Given the description of an element on the screen output the (x, y) to click on. 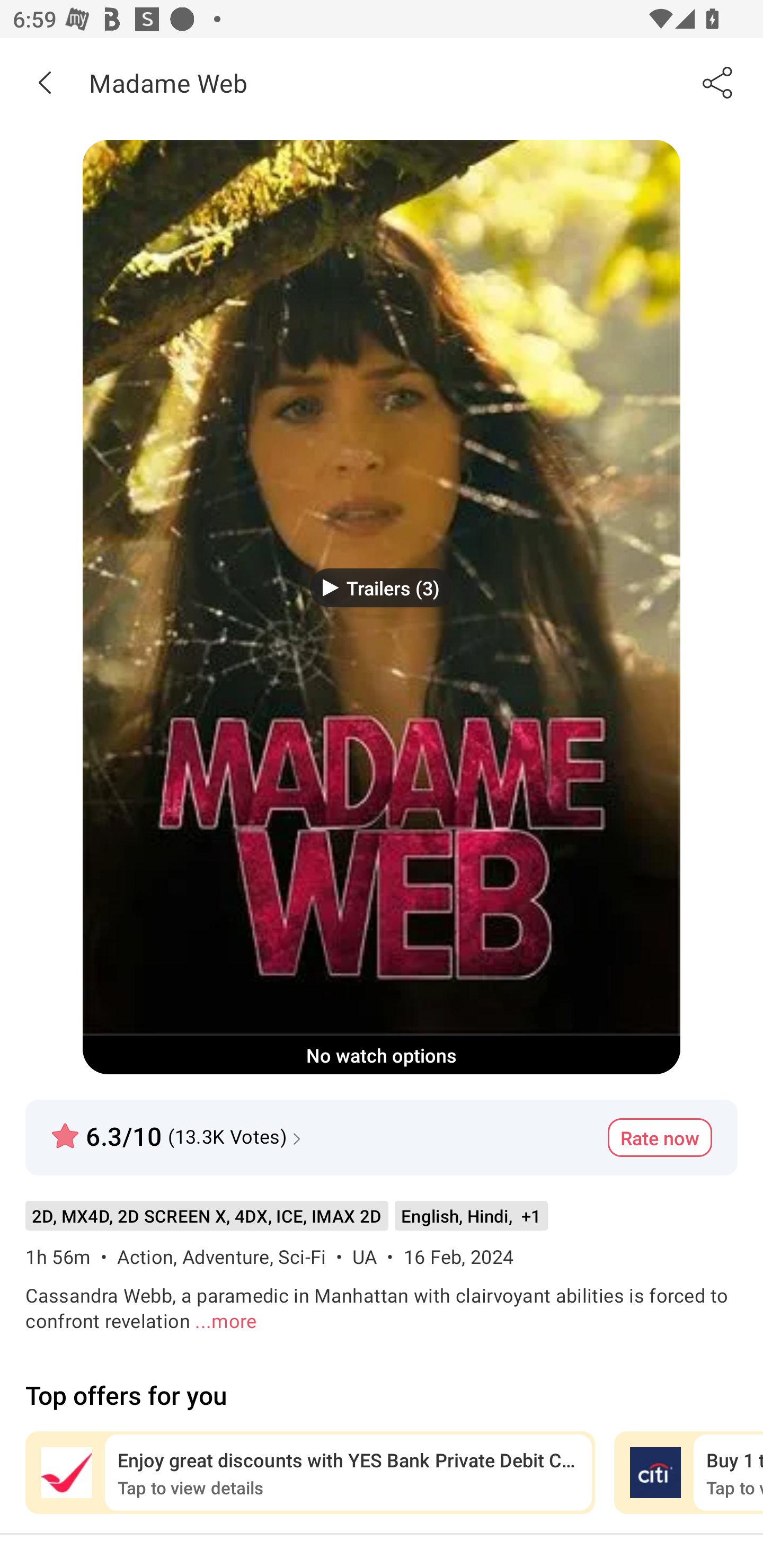
Back (44, 82)
Share (718, 82)
Movie Banner Trailers (3) No watch options (381, 606)
Trailers (3) (381, 586)
6.3/10 (13.3K Votes) (178, 1128)
Rate now (659, 1137)
